Given the description of an element on the screen output the (x, y) to click on. 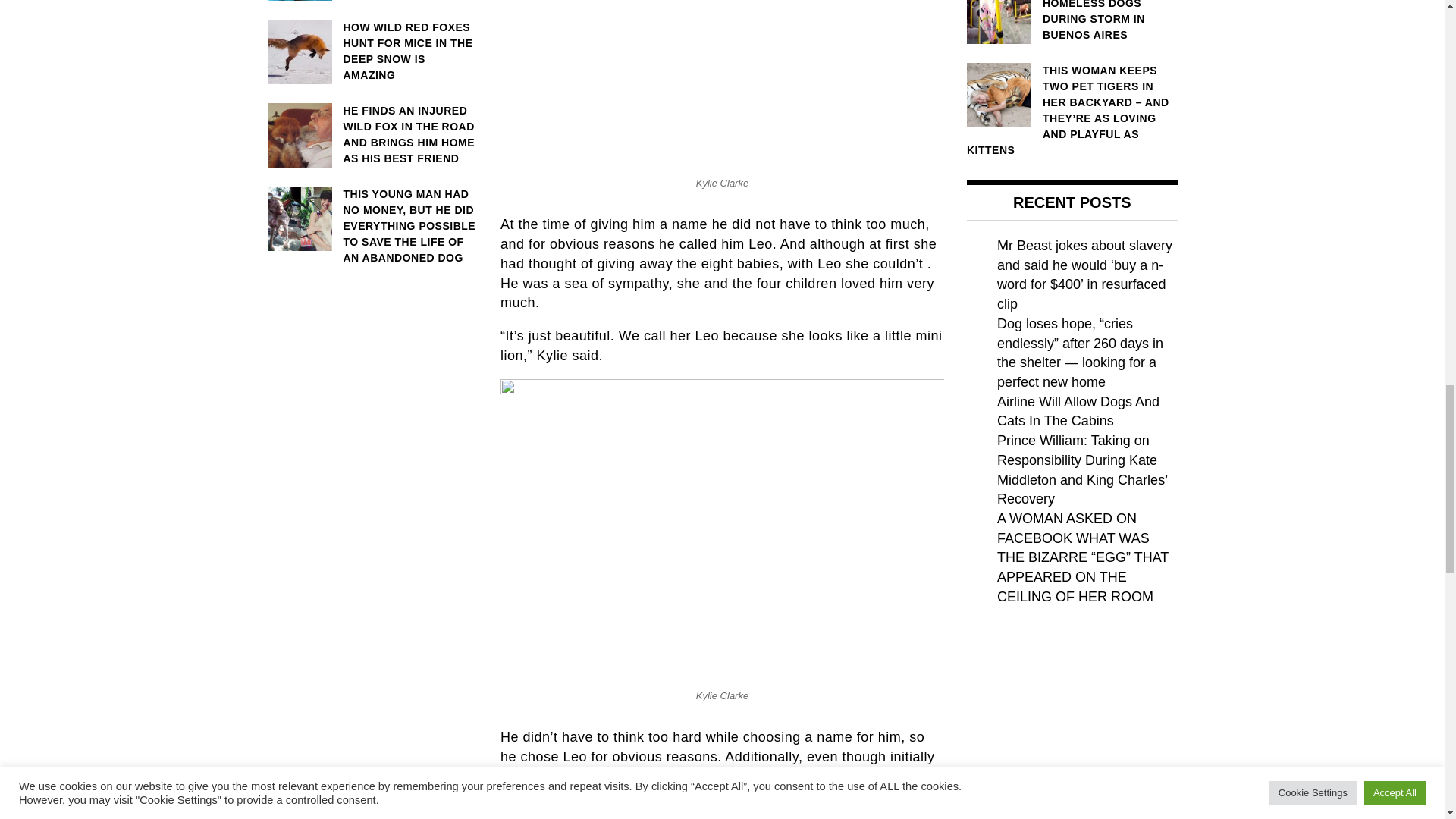
HOW WILD RED FOXES HUNT FOR MICE IN THE DEEP SNOW IS AMAZING (371, 51)
